Given the description of an element on the screen output the (x, y) to click on. 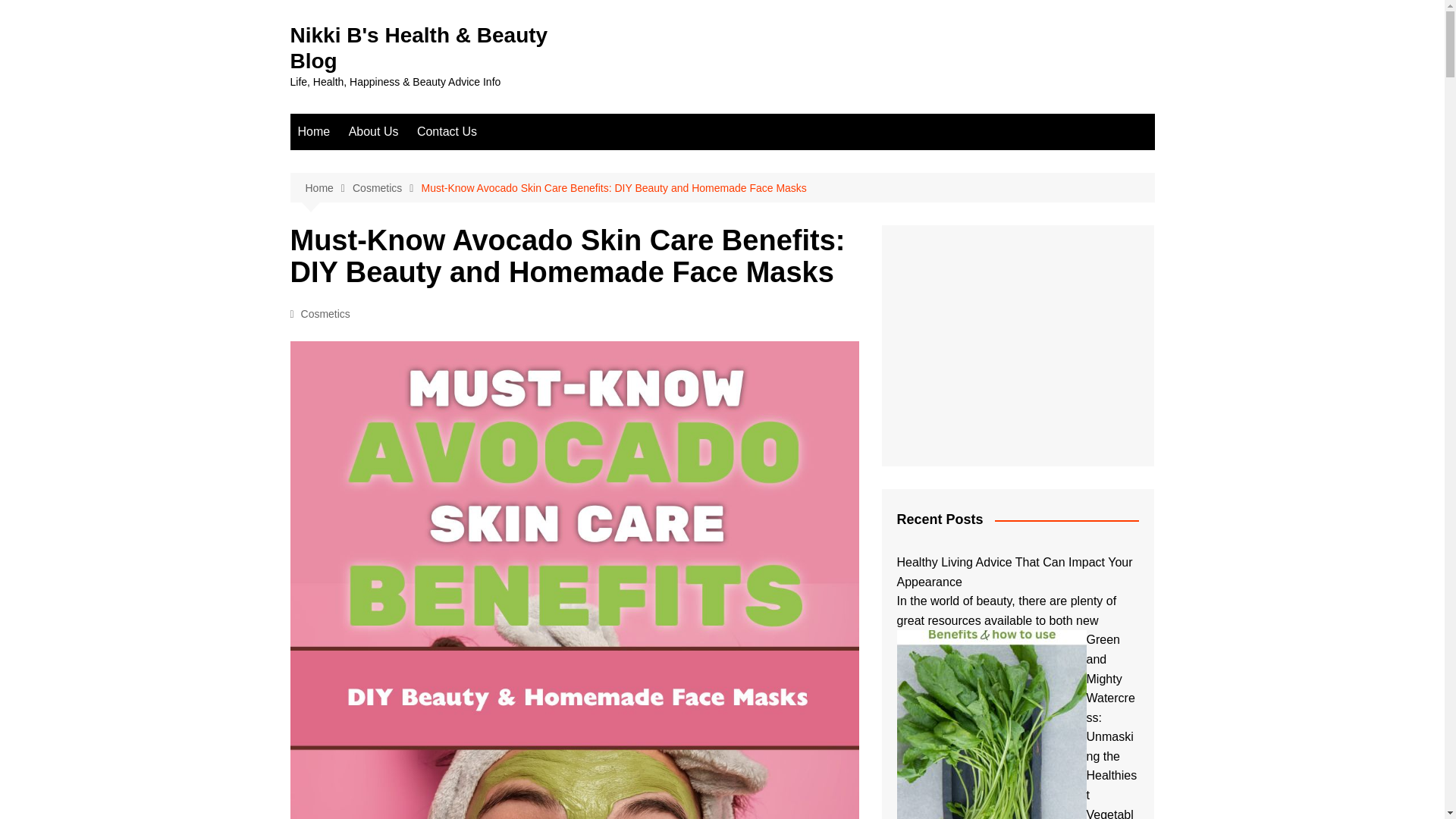
Home (313, 131)
Cosmetics (325, 313)
About Us (373, 131)
Cosmetics (386, 188)
Home (328, 188)
Contact Us (446, 131)
